Given the description of an element on the screen output the (x, y) to click on. 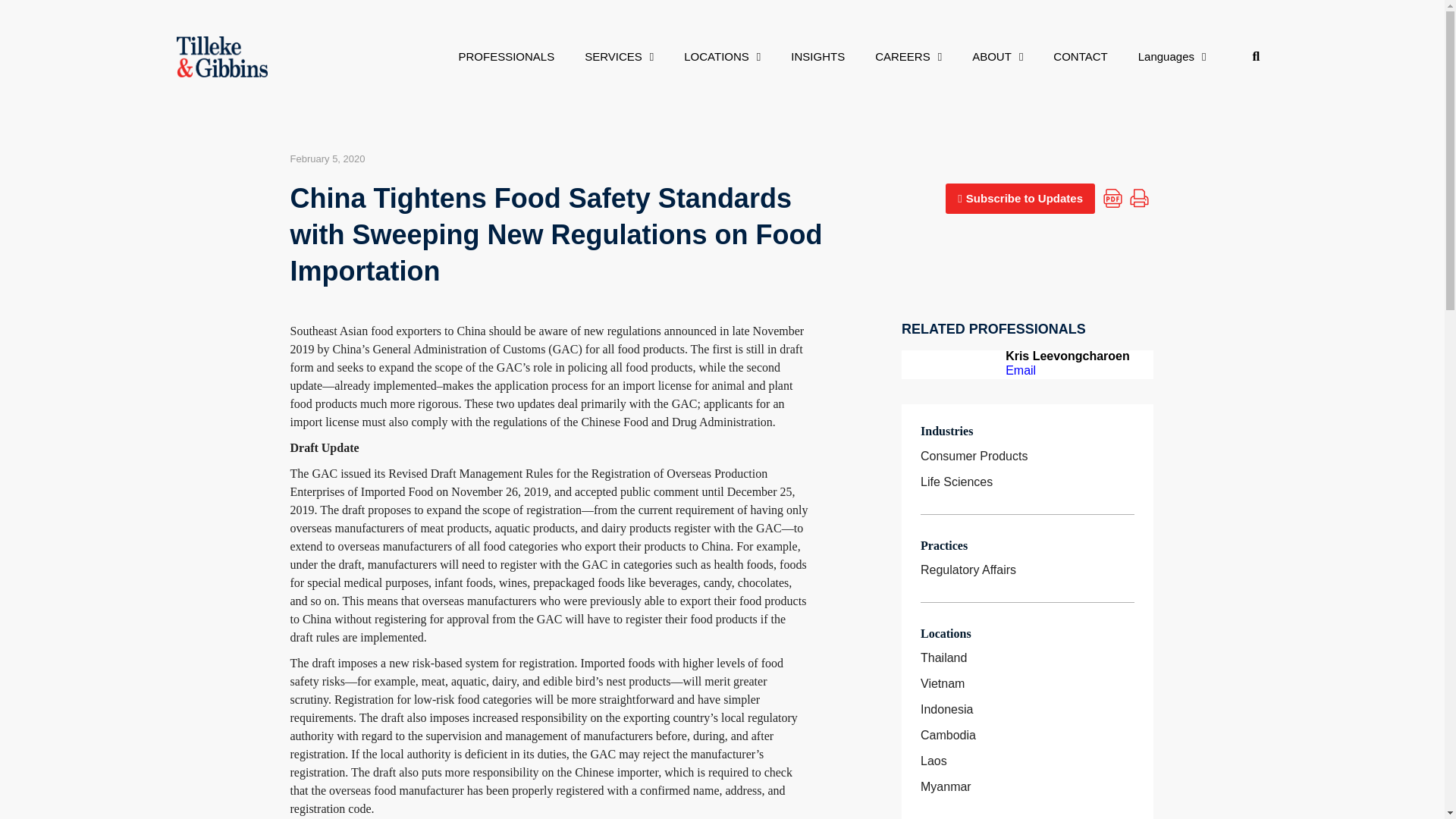
LOCATIONS (722, 56)
INSIGHTS (818, 56)
SERVICES (618, 56)
PROFESSIONALS (505, 56)
CAREERS (908, 56)
ABOUT (997, 56)
